Given the description of an element on the screen output the (x, y) to click on. 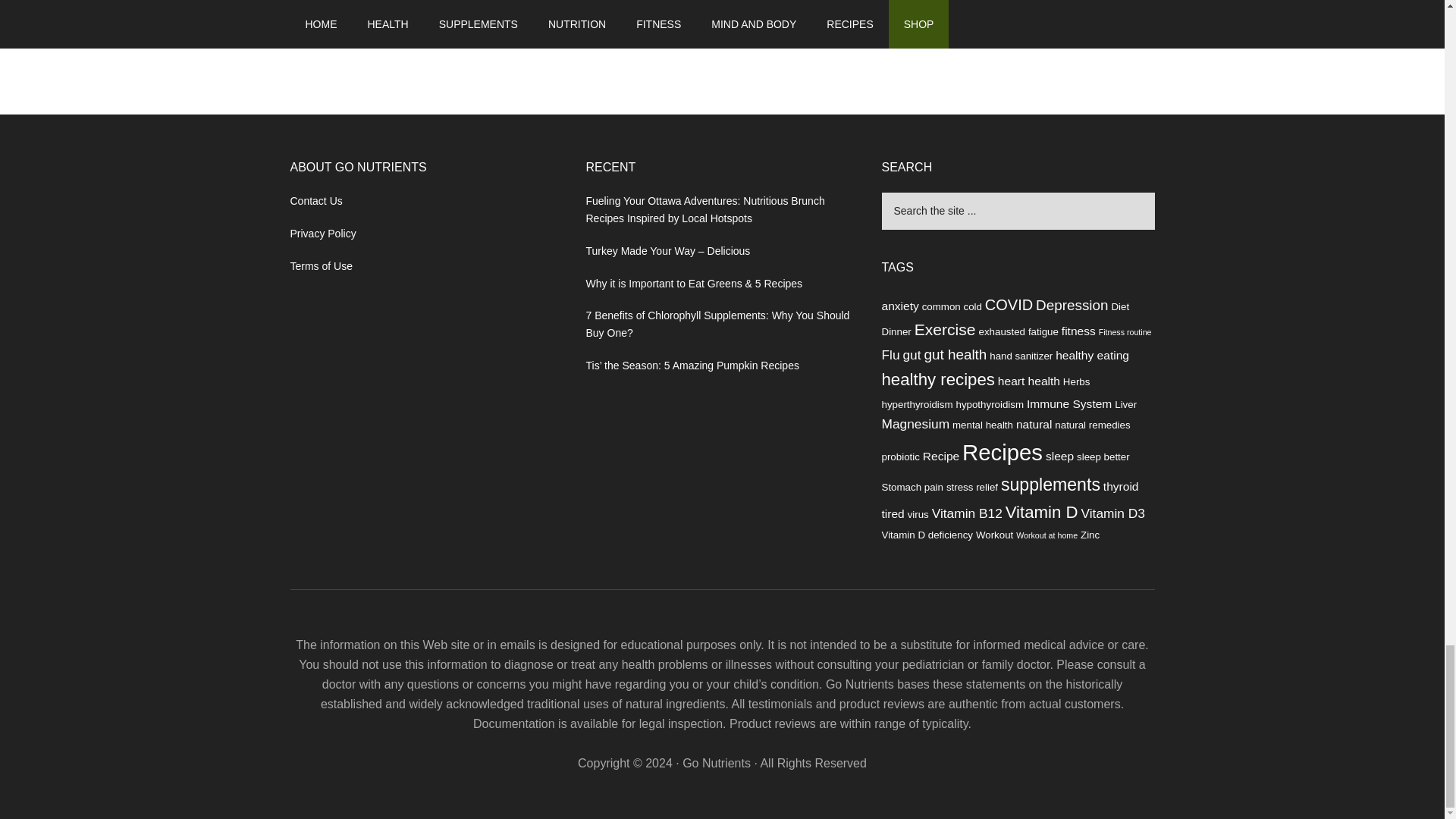
Permanent Link to Vitamin D:  Why Do You Need It? (396, 20)
